Given the description of an element on the screen output the (x, y) to click on. 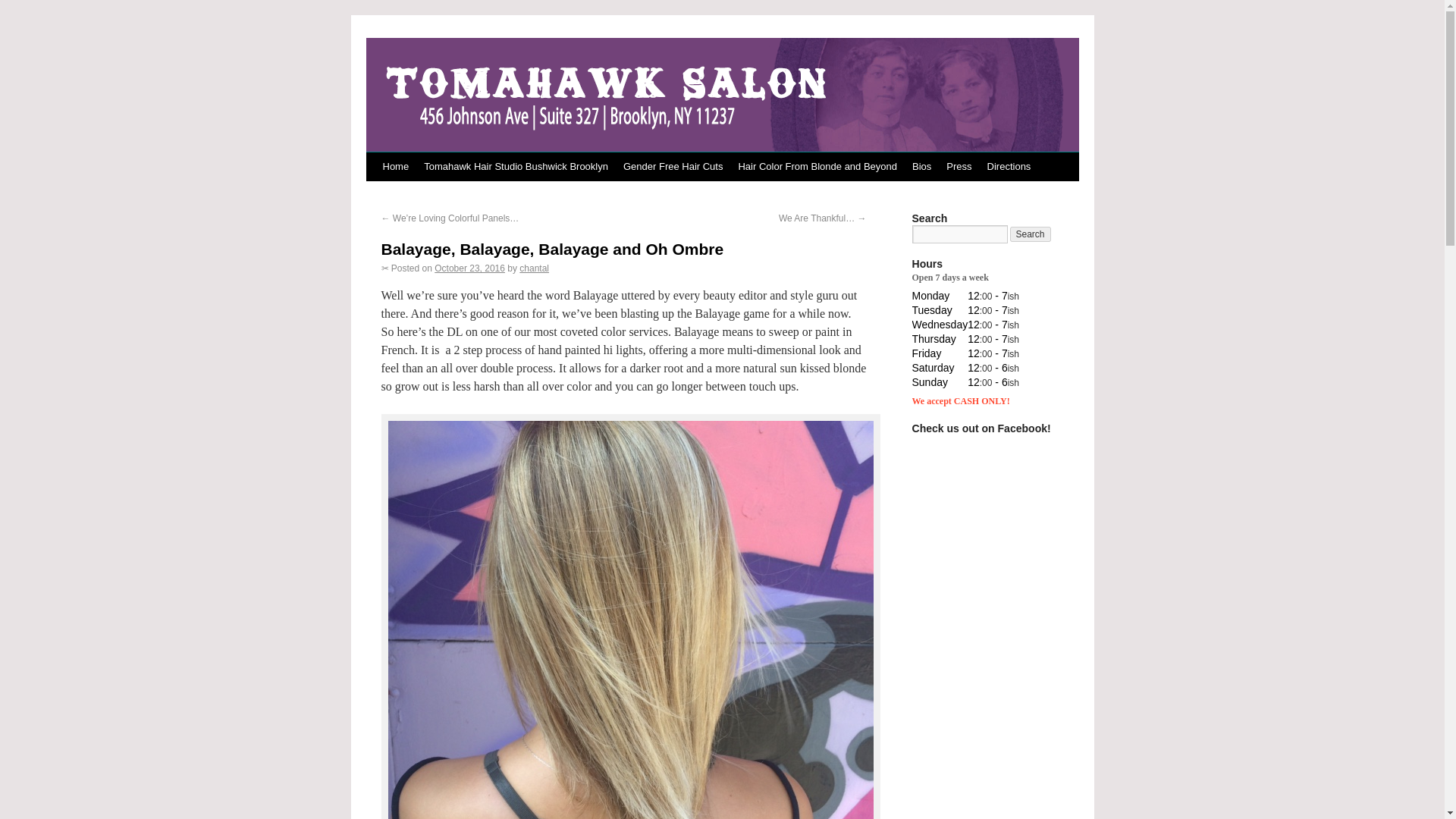
Tomahawk Hair Studio Bushwick Brooklyn (515, 166)
Home (395, 166)
Search (1030, 233)
Bios (921, 166)
chantal (533, 267)
Directions (1009, 166)
Hair Color From Blonde and Beyond (817, 166)
View all posts by chantal (533, 267)
October 23, 2016 (469, 267)
Press (958, 166)
